Given the description of an element on the screen output the (x, y) to click on. 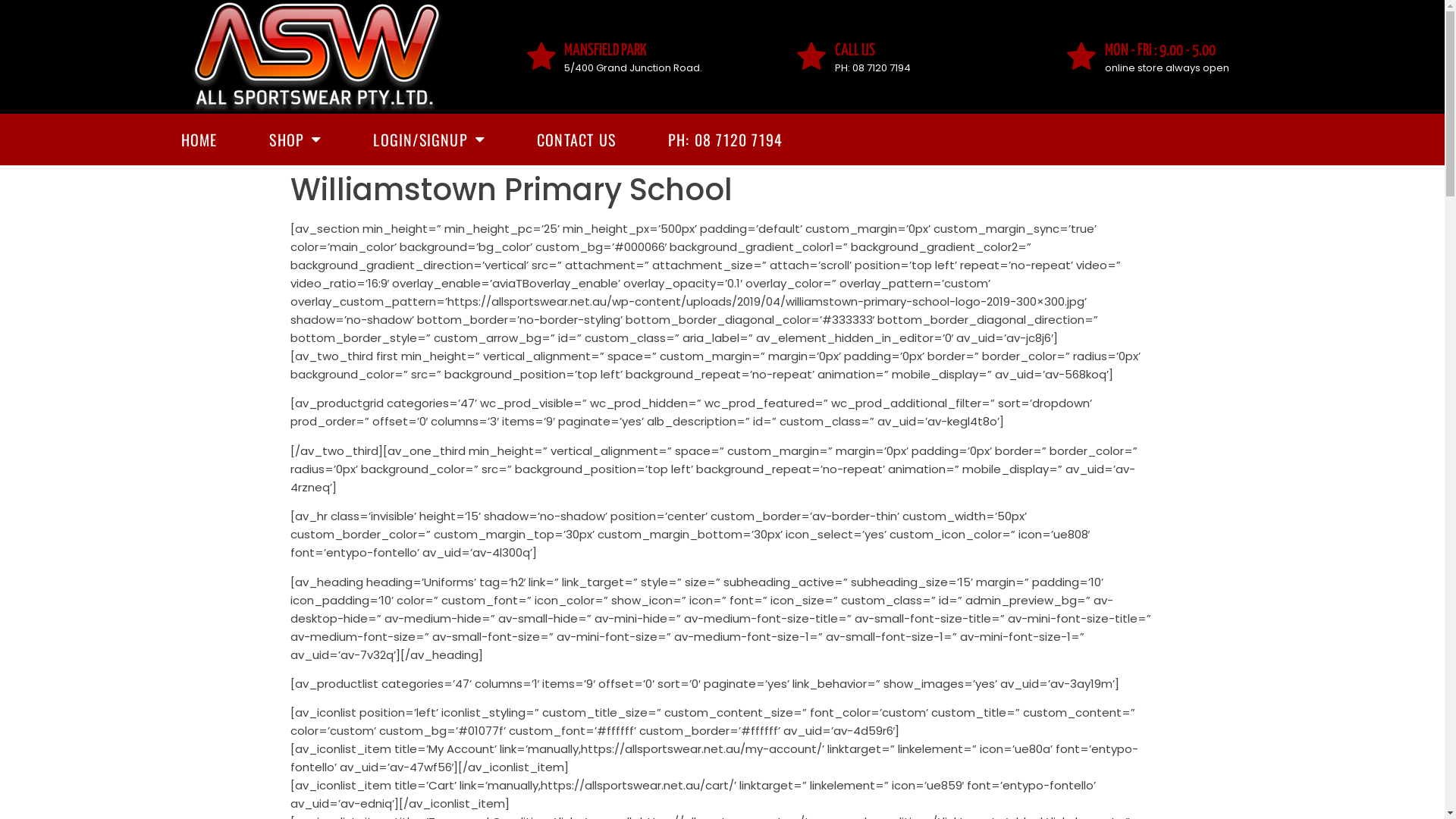
PH: 08 7120 7194 Element type: text (725, 139)
CONTACT US Element type: text (576, 139)
LOGIN/SIGNUP Element type: text (428, 139)
HOME Element type: text (199, 139)
SHOP Element type: text (294, 139)
cropped-asw-all-sportswear-logo-01a.png Element type: hover (316, 56)
